Given the description of an element on the screen output the (x, y) to click on. 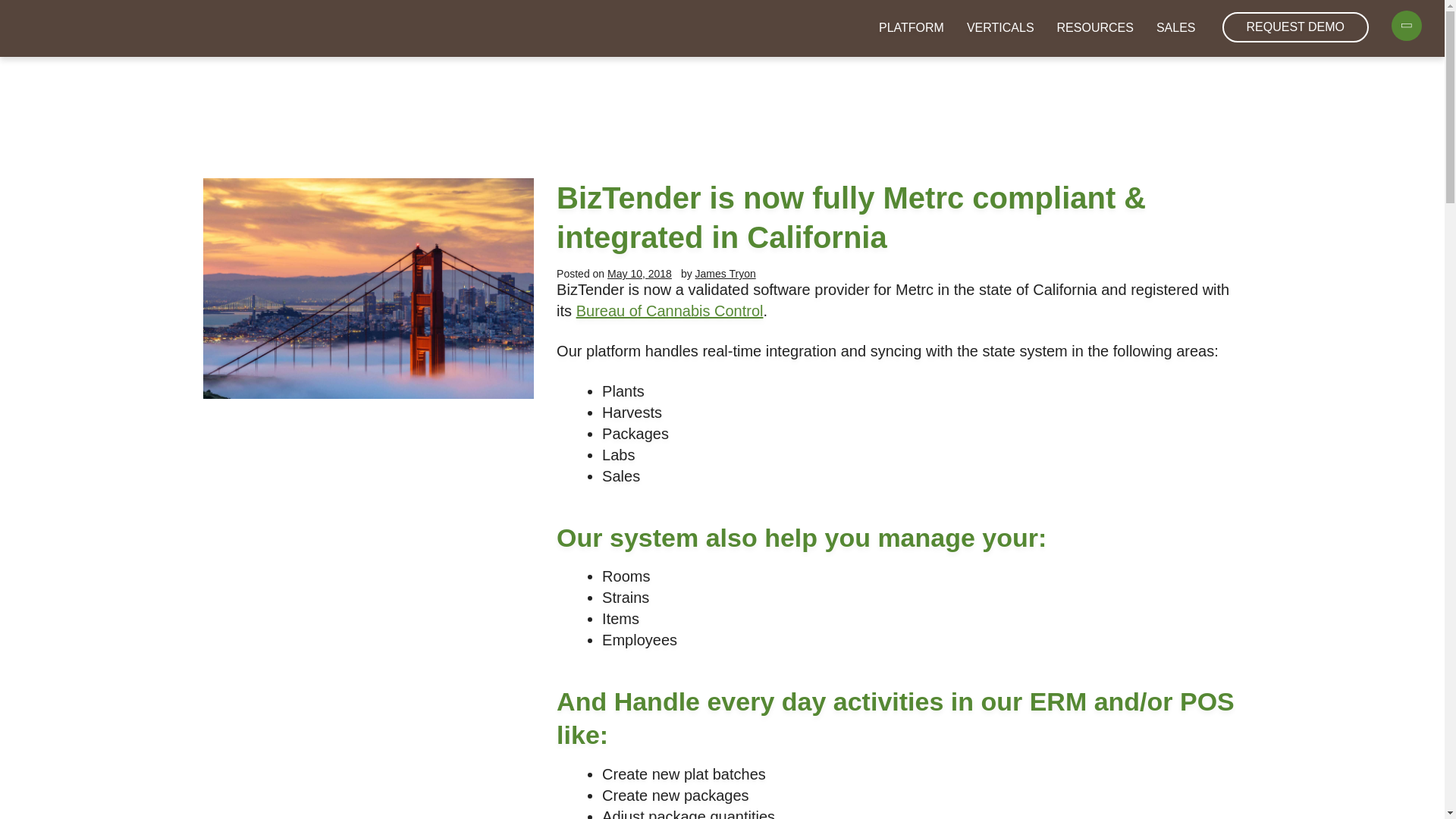
SALES (1175, 28)
James Tryon (725, 273)
PLATFORM (911, 28)
REQUEST DEMO (1296, 27)
BizTender (95, 26)
VERTICALS (1000, 28)
RESOURCES (1094, 28)
May 10, 2018 (639, 273)
Bureau of Cannabis Control (669, 310)
